Given the description of an element on the screen output the (x, y) to click on. 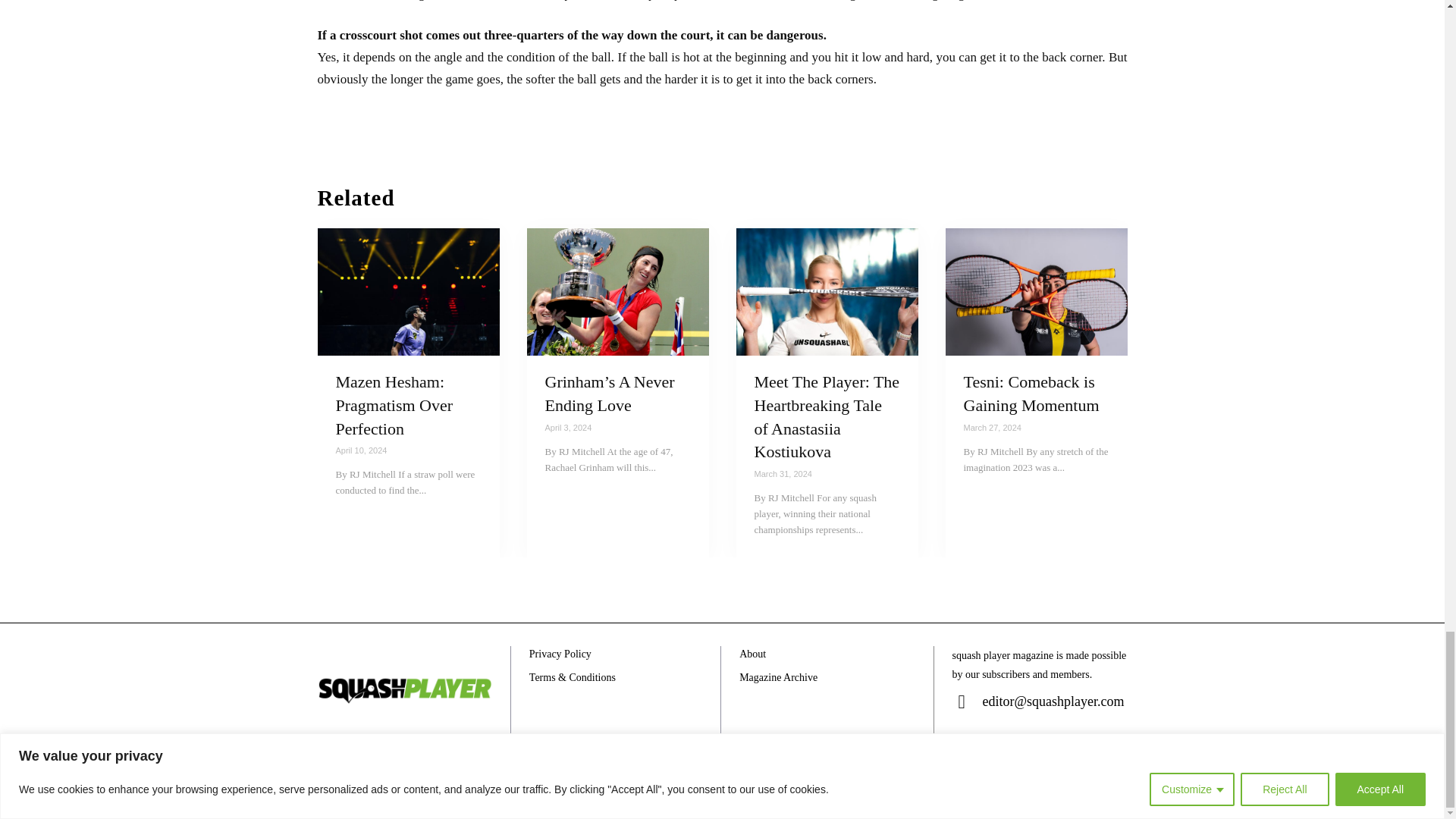
Mazen Hesham: Pragmatism Over Perfection (408, 291)
Tesni: Comeback is Gaining Momentum (1035, 291)
Mazen Hesham: Pragmatism Over Perfection (393, 405)
Tesni: Comeback is Gaining Momentum (1030, 393)
